Given the description of an element on the screen output the (x, y) to click on. 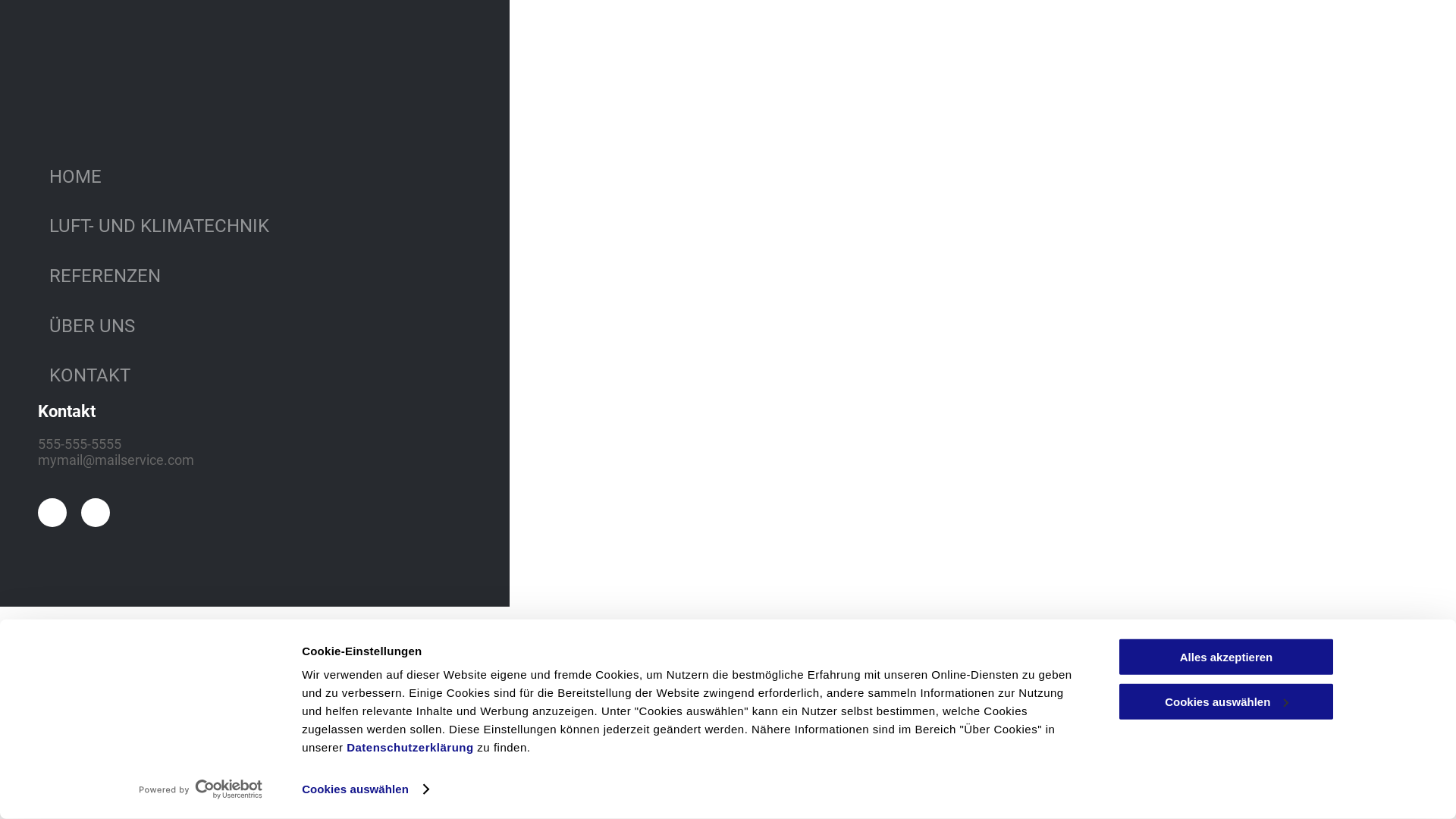
HOME Element type: text (292, 176)
LUFT- UND KLIMATECHNIK Element type: text (292, 226)
REFERENZEN Element type: text (292, 276)
Alles akzeptieren Element type: text (1225, 656)
KONTAKT Element type: text (292, 375)
